Given the description of an element on the screen output the (x, y) to click on. 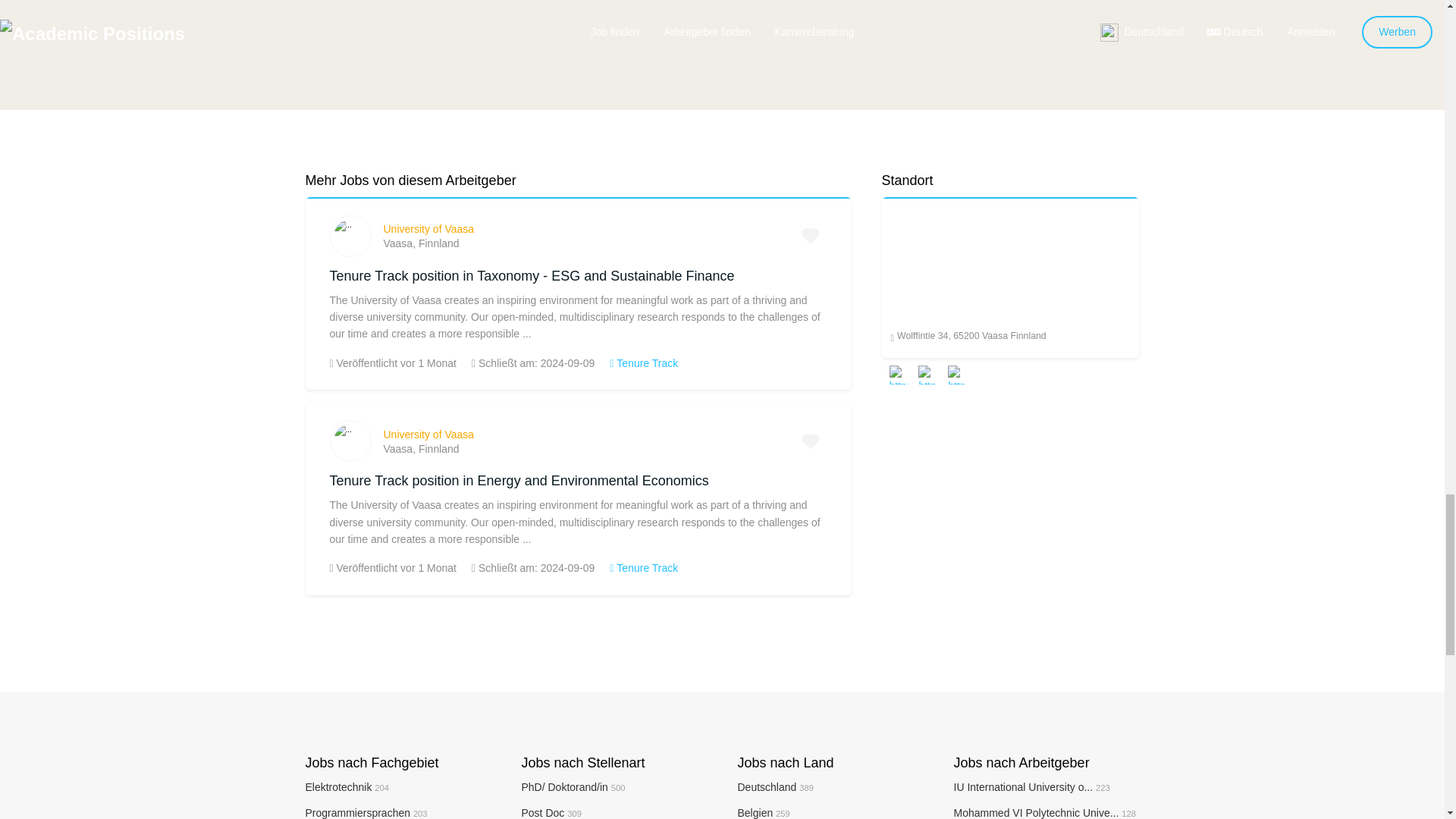
Programmiersprachen (365, 812)
Bitte loggen Sie sich ein, um den Job zu speichern. (810, 235)
Bitte loggen Sie sich ein, um den Job zu speichern. (810, 441)
Elektrotechnik (346, 787)
Post Doc (550, 812)
